Given the description of an element on the screen output the (x, y) to click on. 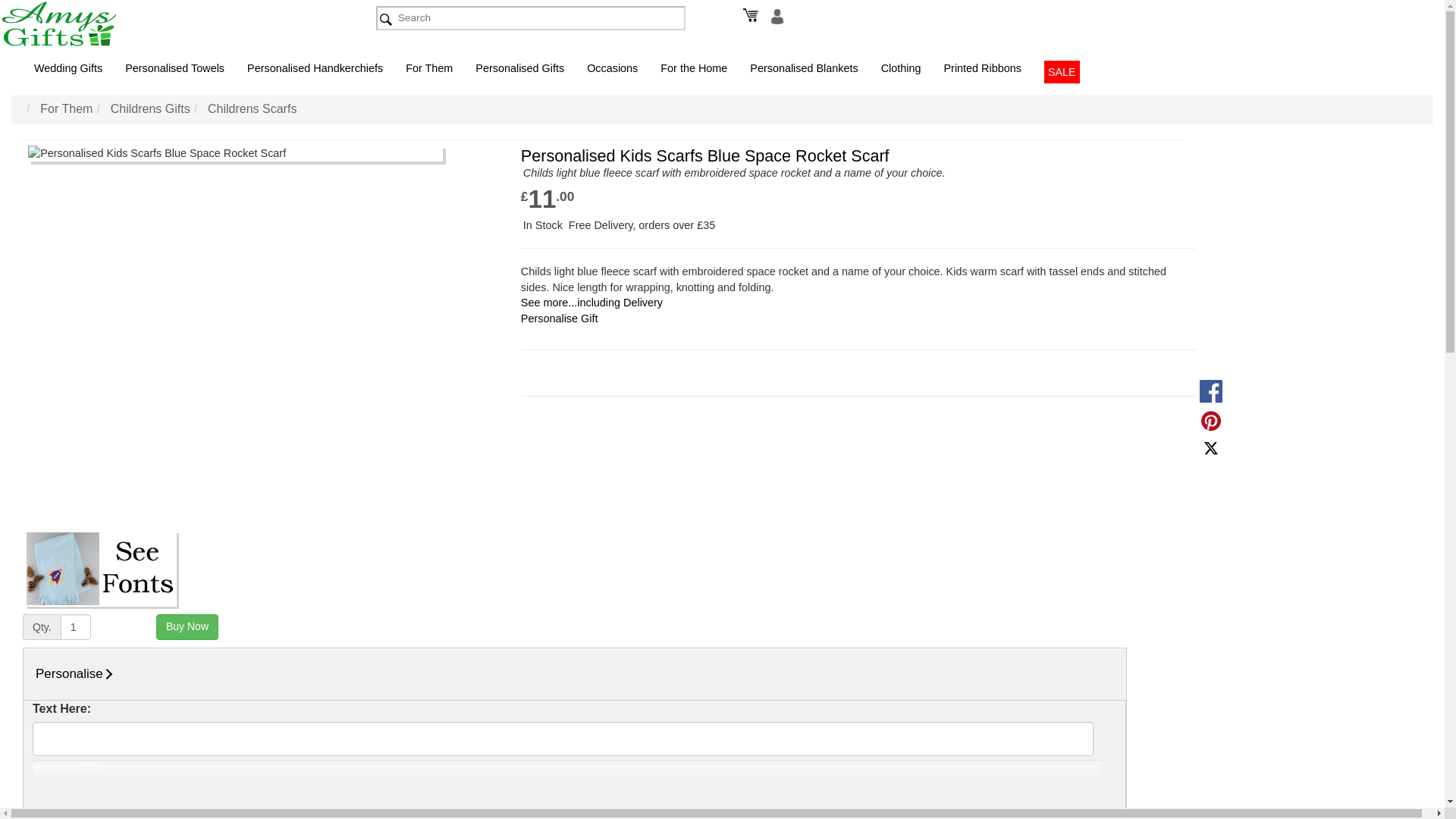
AmysGifts.co.uk Home (171, 24)
For Them (429, 67)
Personalised Handkerchiefs (314, 67)
Wedding Gifts (68, 67)
Personalised Towels (174, 67)
1 (75, 626)
AmysGifts (75, 24)
My Account (774, 15)
